Given the description of an element on the screen output the (x, y) to click on. 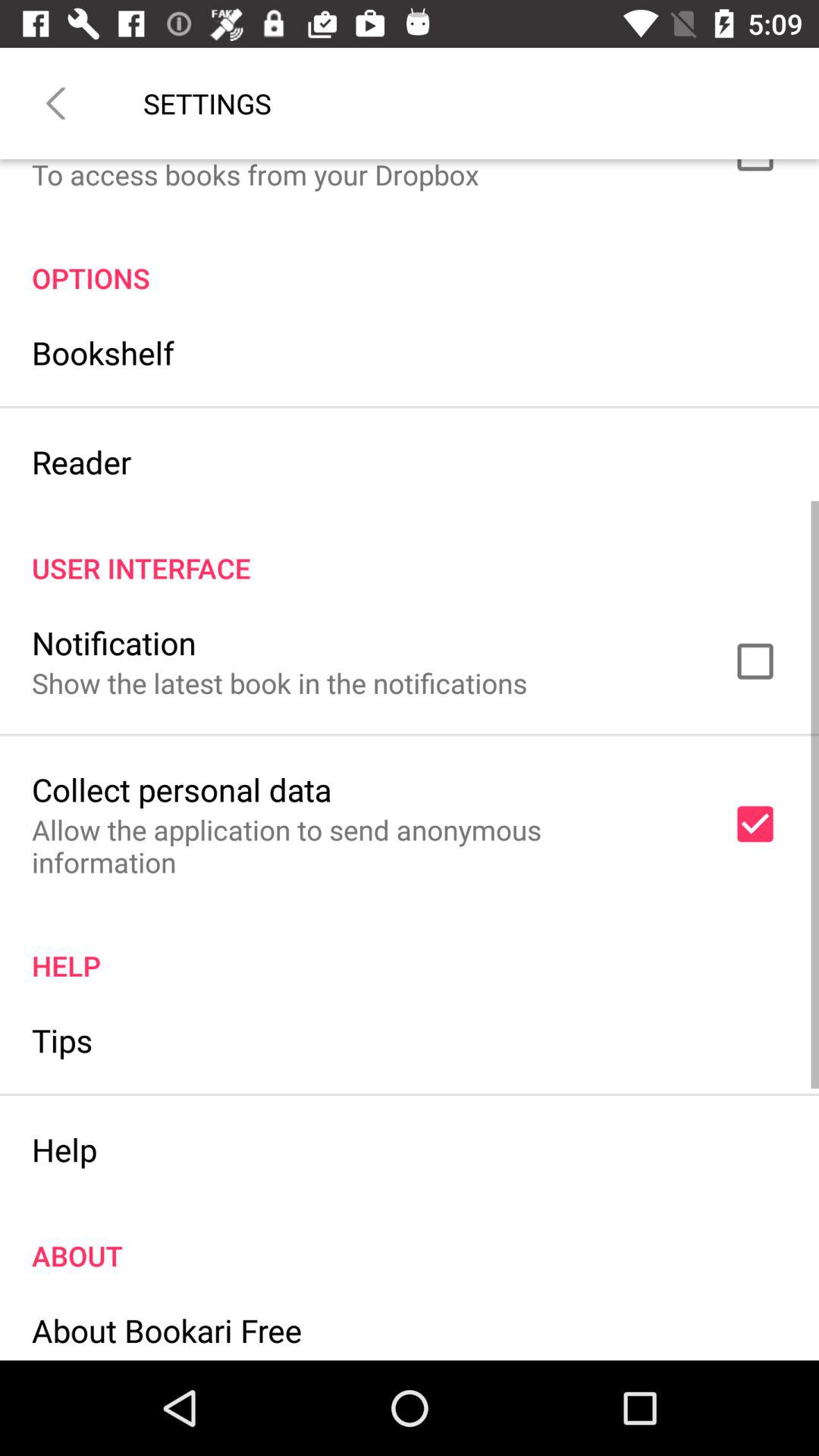
launch to access books icon (254, 176)
